Given the description of an element on the screen output the (x, y) to click on. 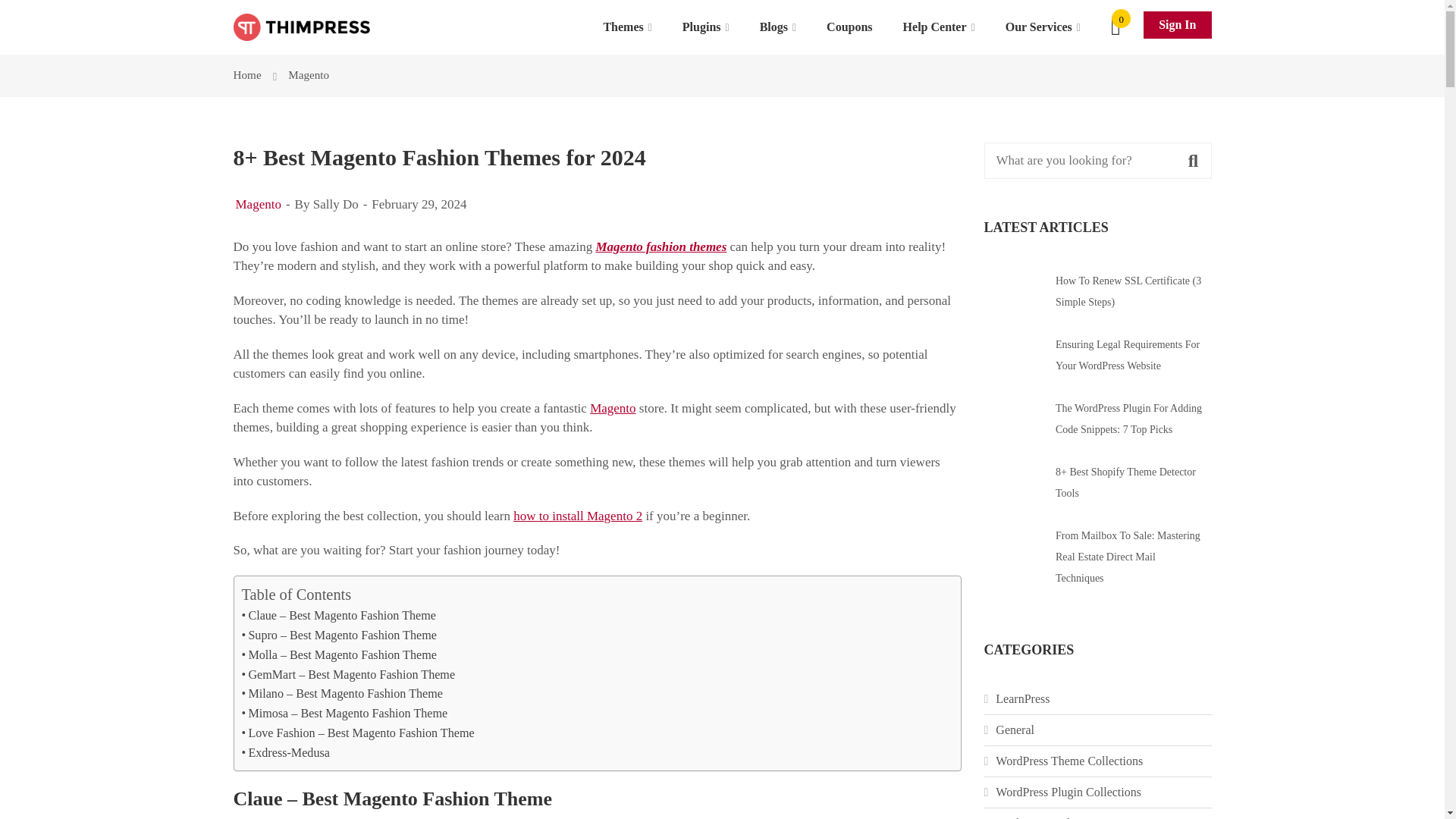
Sign in (1176, 24)
Plugins (705, 27)
Coupons (848, 27)
Exdress-Medusa (285, 752)
Blogs (777, 27)
Sign In (1176, 24)
Themes (627, 27)
Our Services (1043, 27)
Help Center (939, 27)
